Given the description of an element on the screen output the (x, y) to click on. 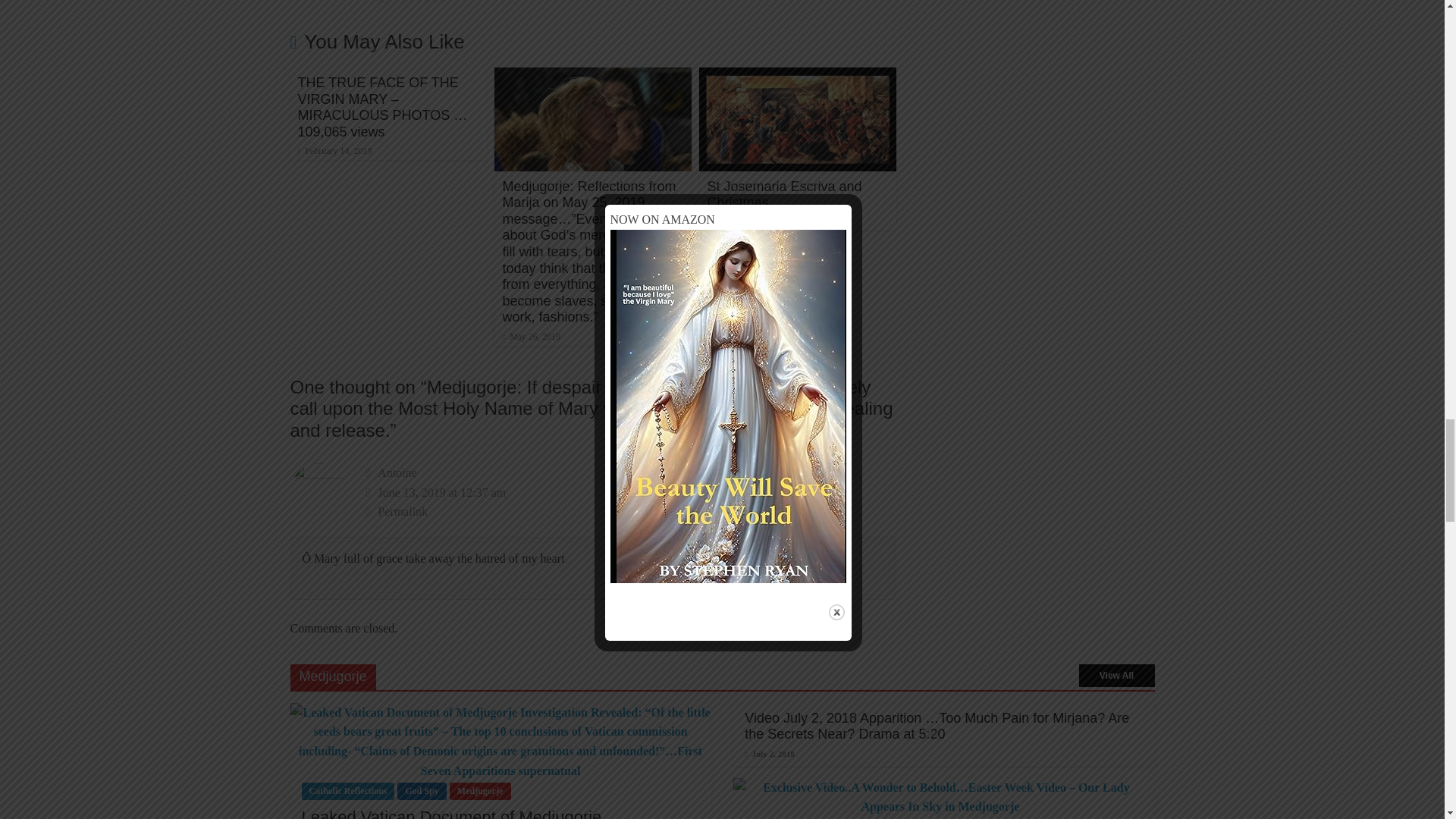
6:10 am (334, 150)
December 18, 2020 (746, 222)
St Josemaria Escriva and Christmas (783, 194)
7:05 am (531, 336)
February 14, 2019 (334, 150)
May 26, 2019 (531, 336)
St Josemaria Escriva and Christmas (797, 76)
